Given the description of an element on the screen output the (x, y) to click on. 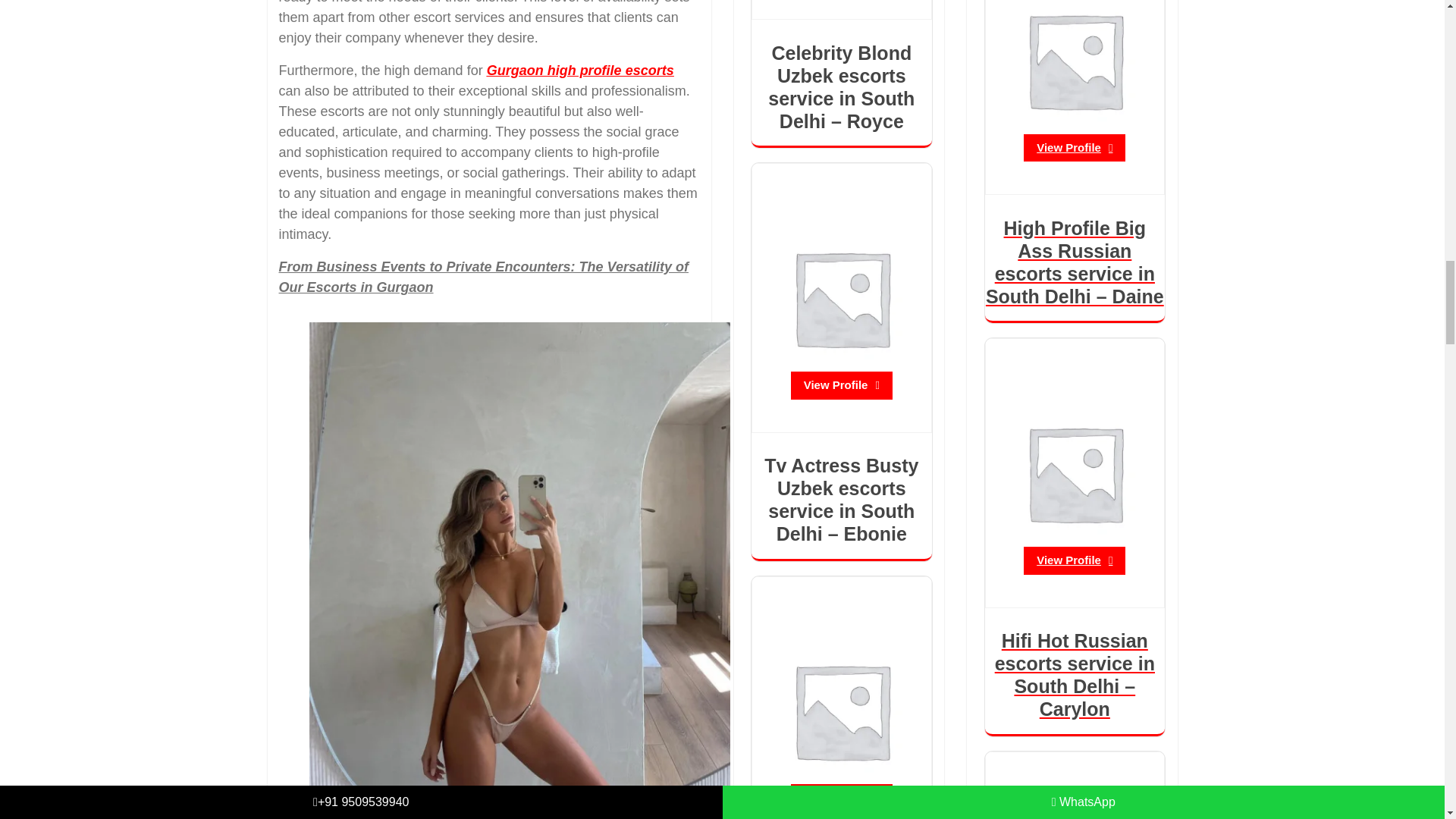
View Profile (1074, 560)
Gurgaon high profile escorts (580, 70)
View Profile (1074, 148)
